Given the description of an element on the screen output the (x, y) to click on. 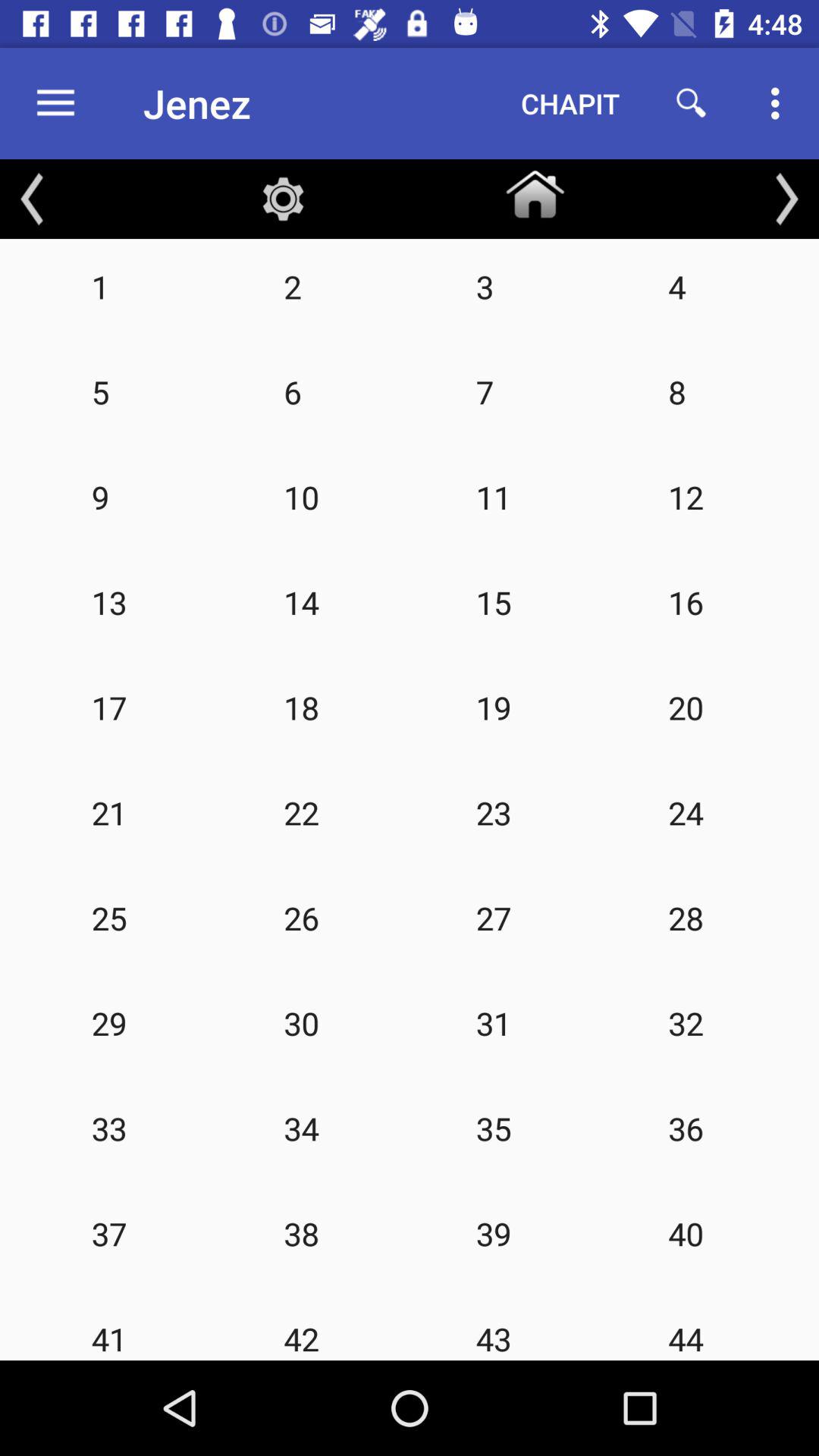
press the icon to the right of jenez  icon (570, 103)
